Given the description of an element on the screen output the (x, y) to click on. 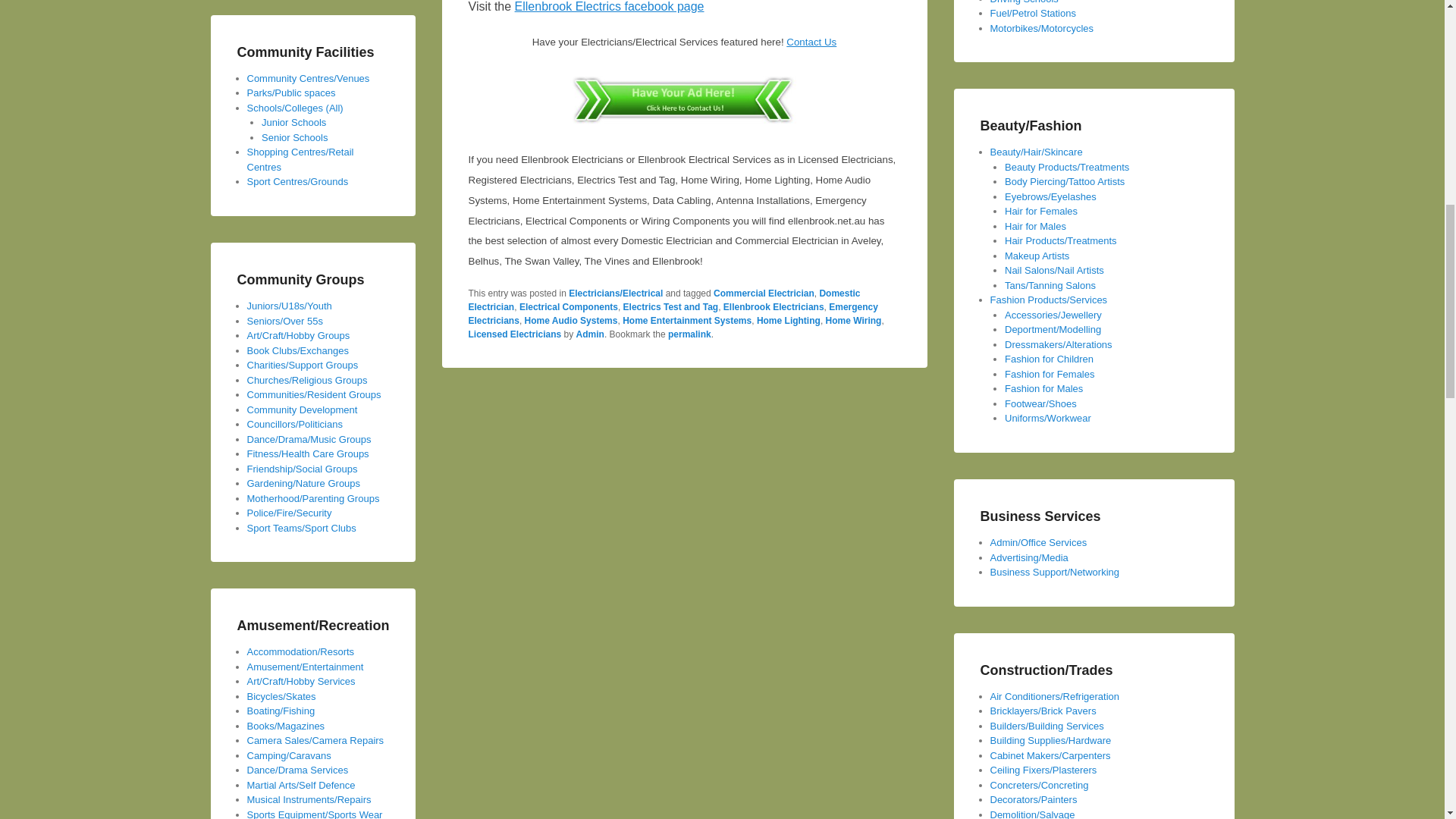
Electrics Test and Tag (671, 307)
Contact Us ellenbrook.net.au (684, 123)
Home Entertainment Systems (687, 320)
Ellenbrook Electrics on facebook (609, 6)
Contact Us (810, 41)
Home Audio Systems (570, 320)
Electrical Components (568, 307)
Contact ellenbrook.net.au (810, 41)
Domestic Electrician (664, 300)
Home Wiring (853, 320)
Ellenbrook Electricians (773, 307)
Ellenbrook Electrics facebook page (609, 6)
Licensed Electricians (515, 334)
Commercial Electrician (763, 293)
Emergency Electricians (672, 313)
